Given the description of an element on the screen output the (x, y) to click on. 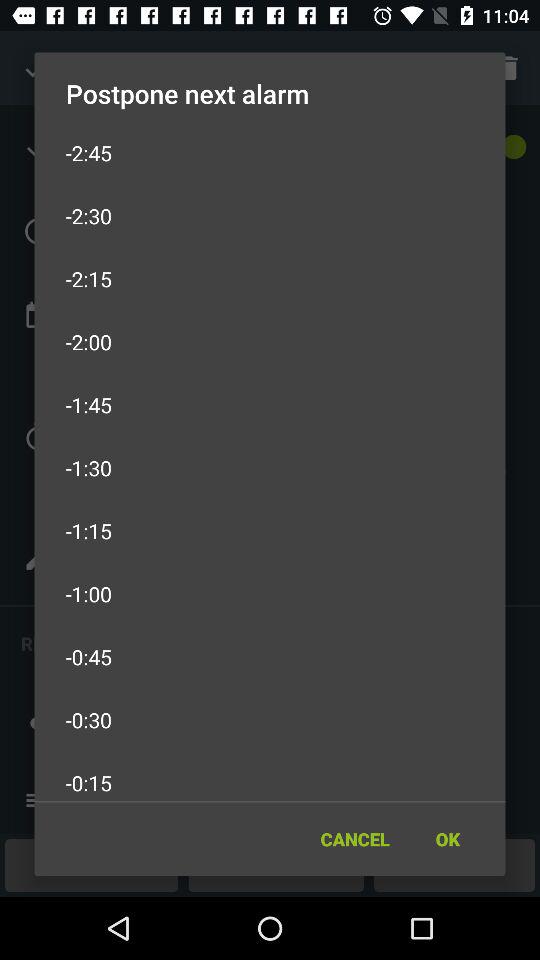
press item to the left of the ok (354, 838)
